Given the description of an element on the screen output the (x, y) to click on. 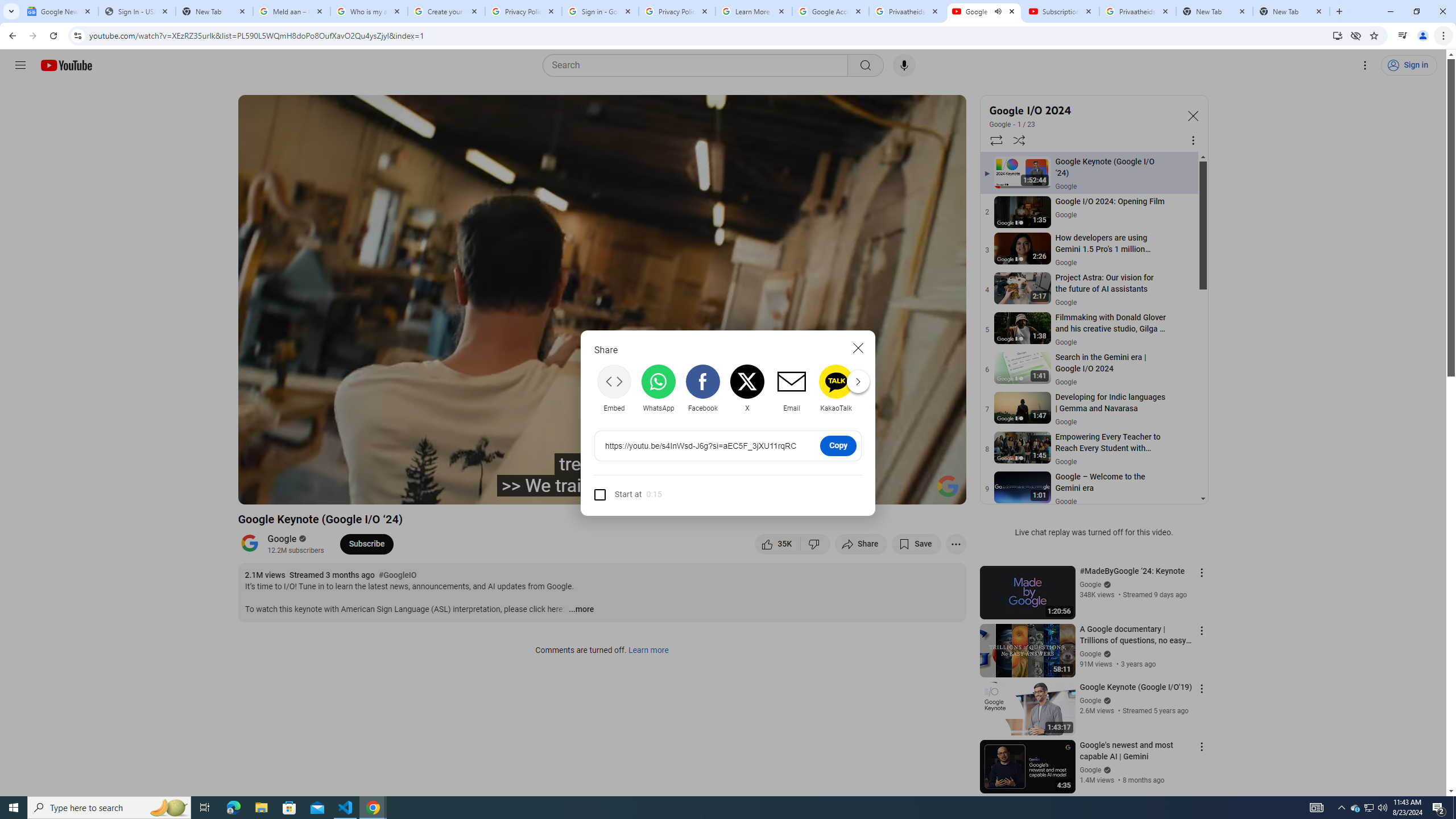
Dislike this video (815, 543)
Install YouTube (1336, 35)
Guide (20, 65)
KakaoTalk (836, 387)
Subscriptions - YouTube (1061, 11)
Channel watermark (947, 486)
KakaoTalk (836, 388)
New Tab (213, 11)
